Given the description of an element on the screen output the (x, y) to click on. 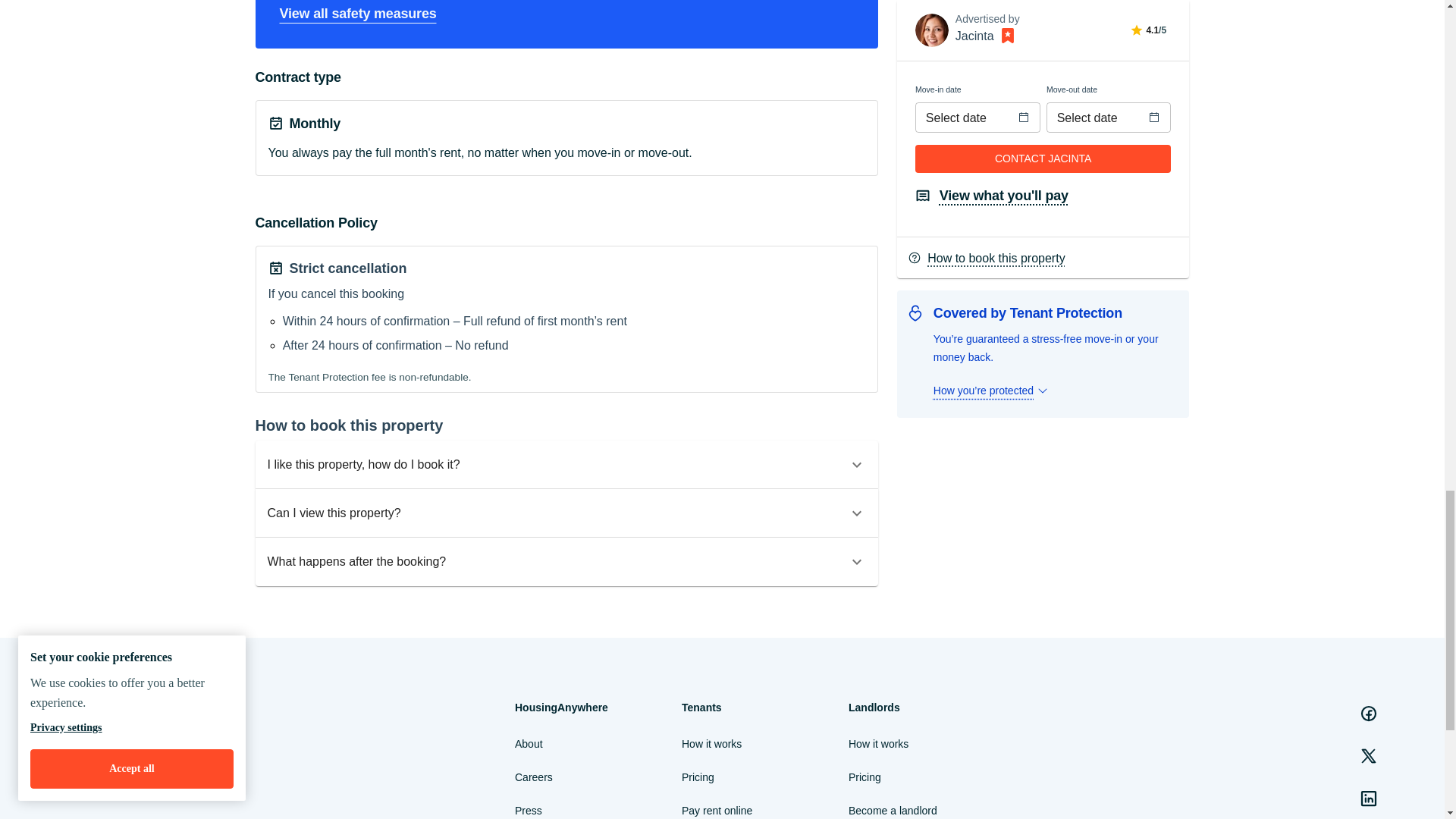
Careers (534, 777)
How it works (711, 743)
Pricing (697, 777)
Press (528, 810)
facebook (1369, 713)
About (529, 743)
View all safety measures (357, 13)
linkedin (1369, 798)
twitter (1369, 756)
